Given the description of an element on the screen output the (x, y) to click on. 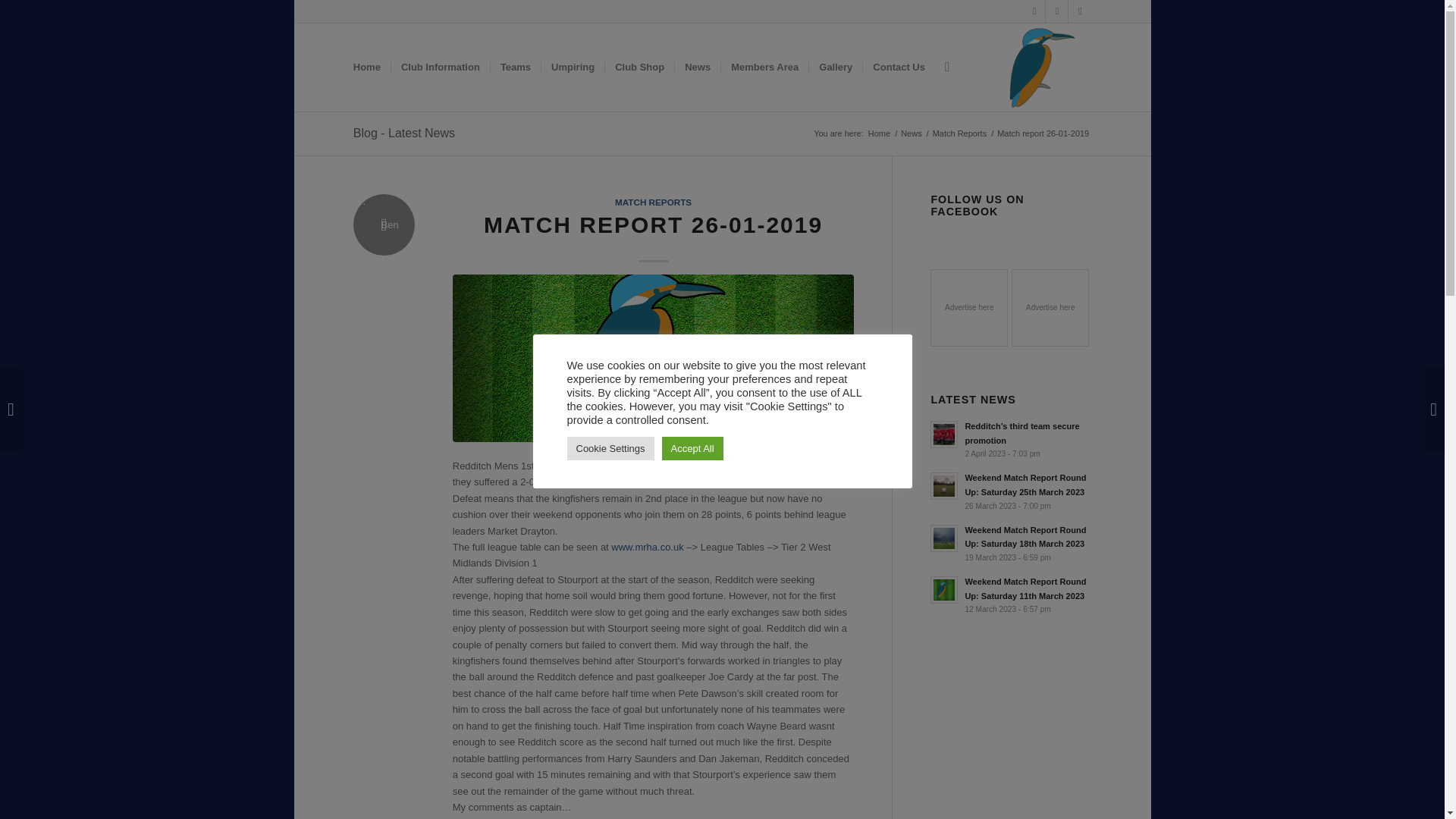
Blog - Latest News (403, 132)
Permanent Link: Blog - Latest News (403, 132)
Redditch-HC (653, 358)
Club Information (439, 67)
Members Area (764, 67)
